Given the description of an element on the screen output the (x, y) to click on. 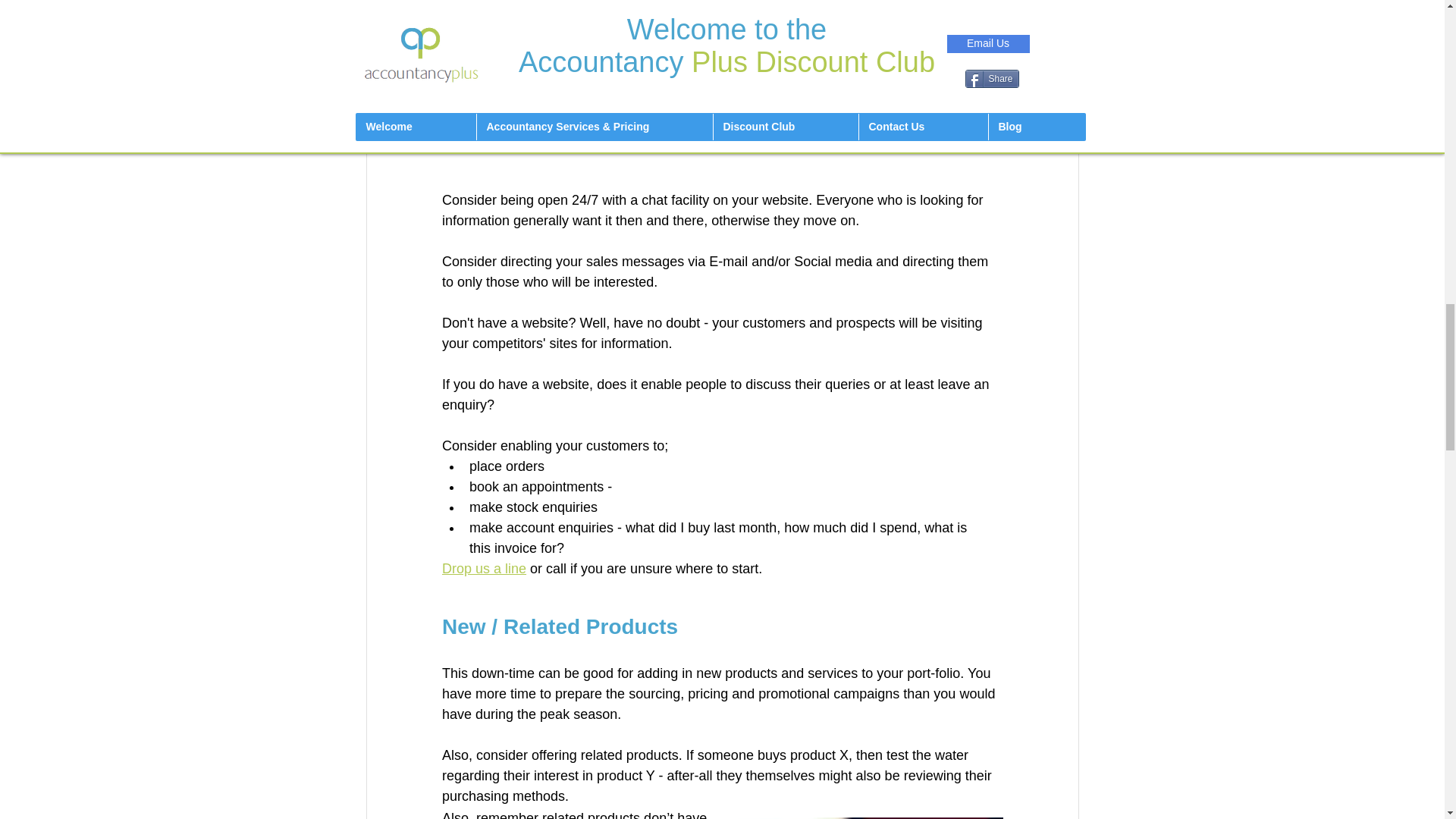
Drop us a line (483, 568)
